Given the description of an element on the screen output the (x, y) to click on. 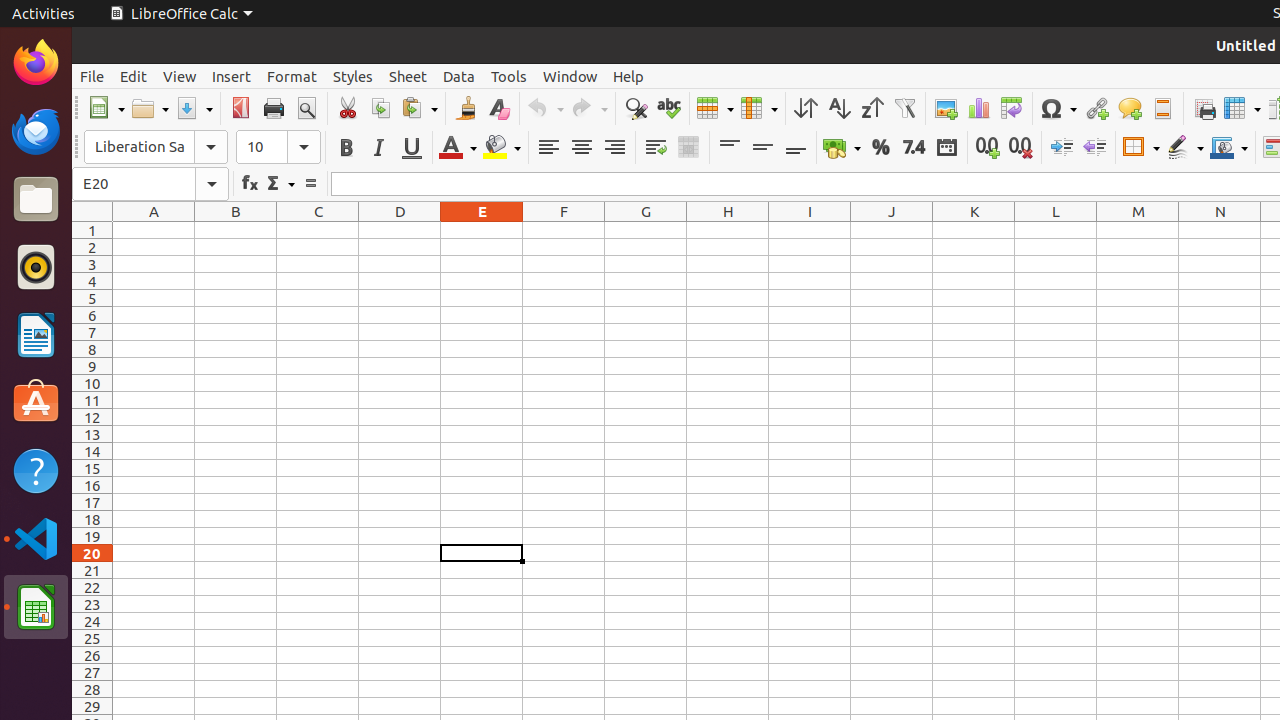
Align Bottom Element type: push-button (795, 147)
Image Element type: push-button (945, 108)
Undo Element type: push-button (545, 108)
Align Center Element type: push-button (581, 147)
Symbol Element type: push-button (1058, 108)
